Given the description of an element on the screen output the (x, y) to click on. 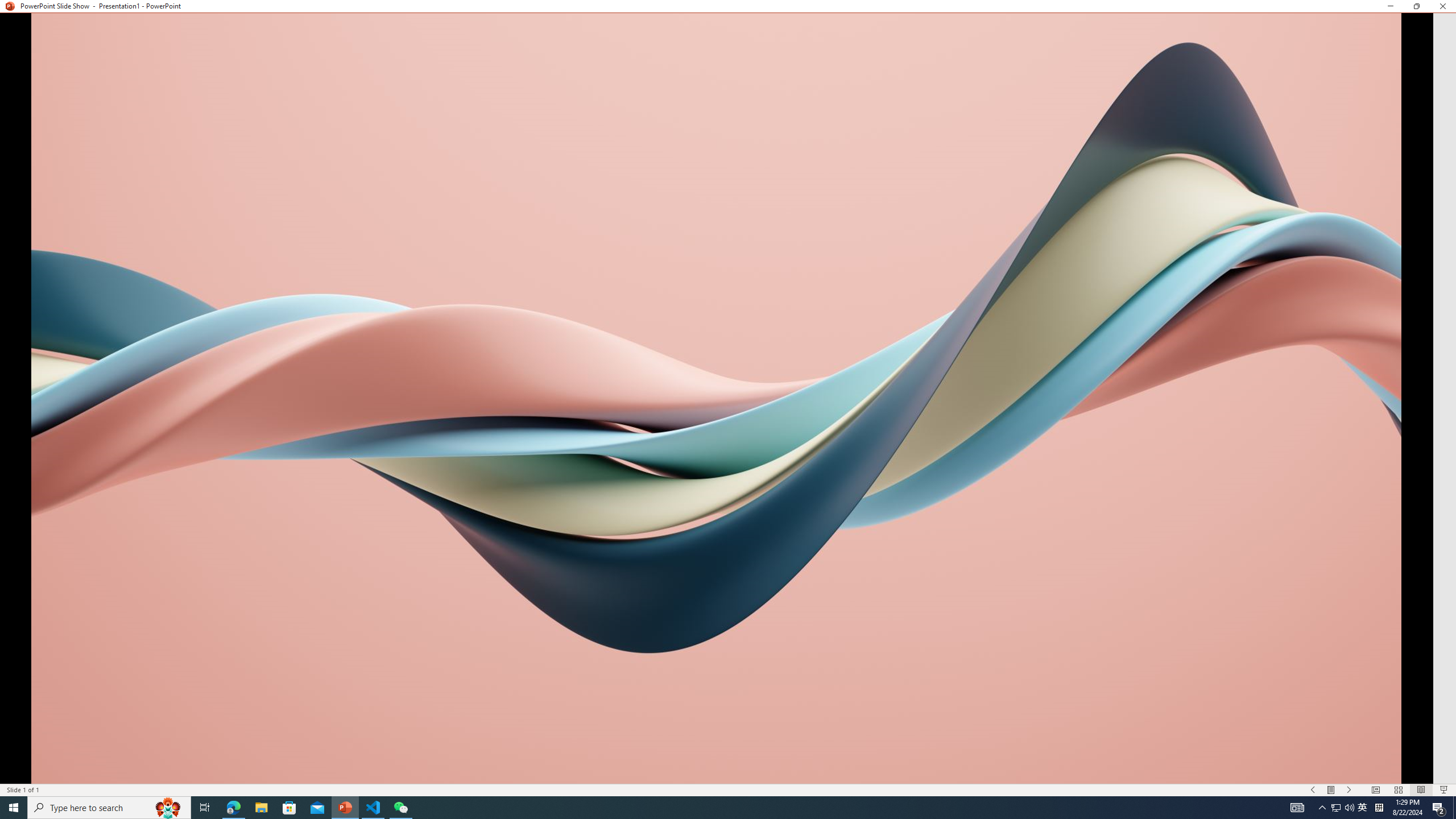
Slide Show Next On (1349, 790)
Menu On (1331, 790)
Slide Show Previous On (1313, 790)
